Given the description of an element on the screen output the (x, y) to click on. 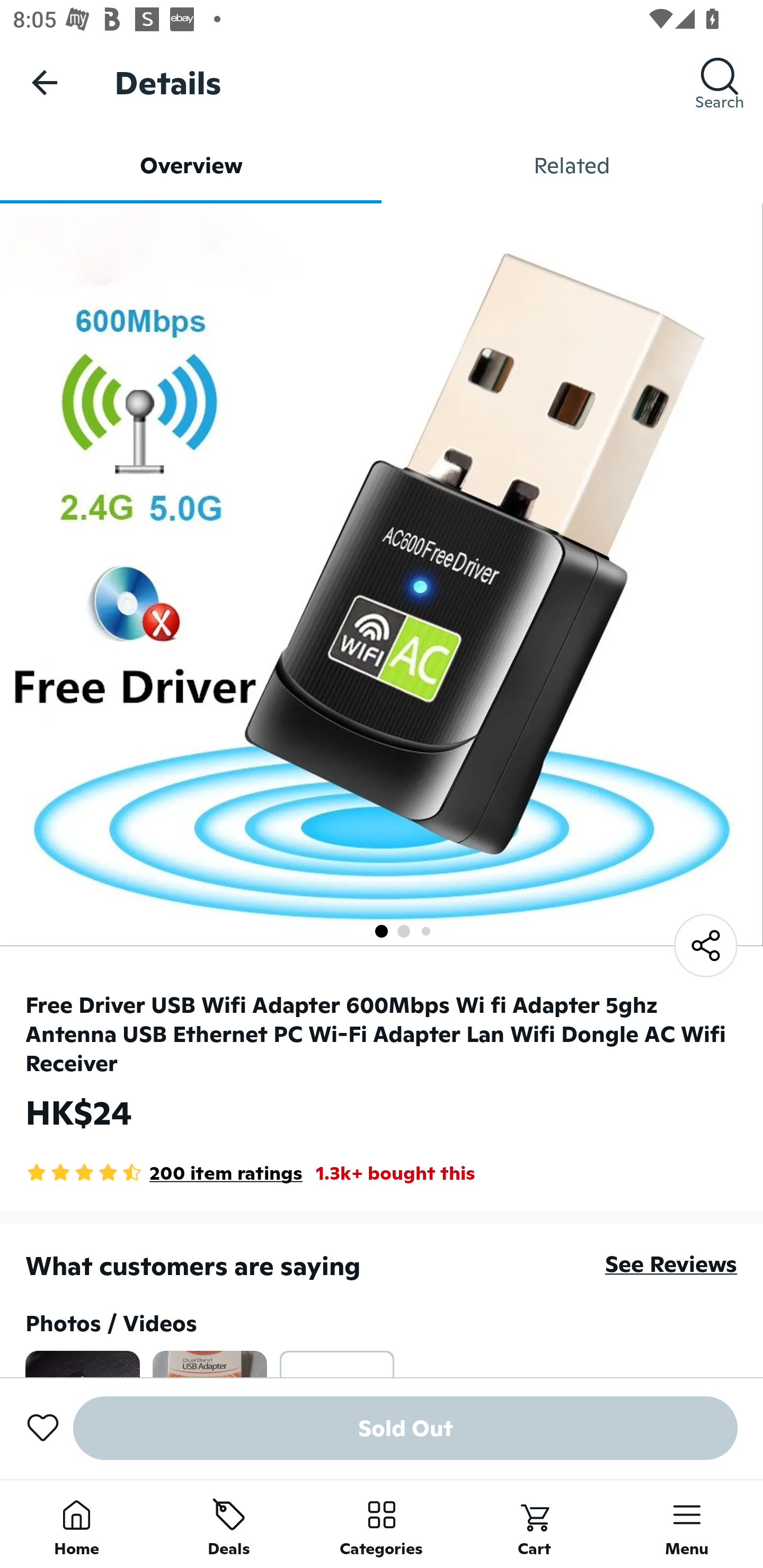
Navigate up (44, 82)
Search (719, 82)
Related (572, 165)
4.3 Star Rating 200 item ratings (163, 1172)
See Reviews (671, 1264)
Sold Out (405, 1428)
Home (76, 1523)
Deals (228, 1523)
Categories (381, 1523)
Cart (533, 1523)
Menu (686, 1523)
